Given the description of an element on the screen output the (x, y) to click on. 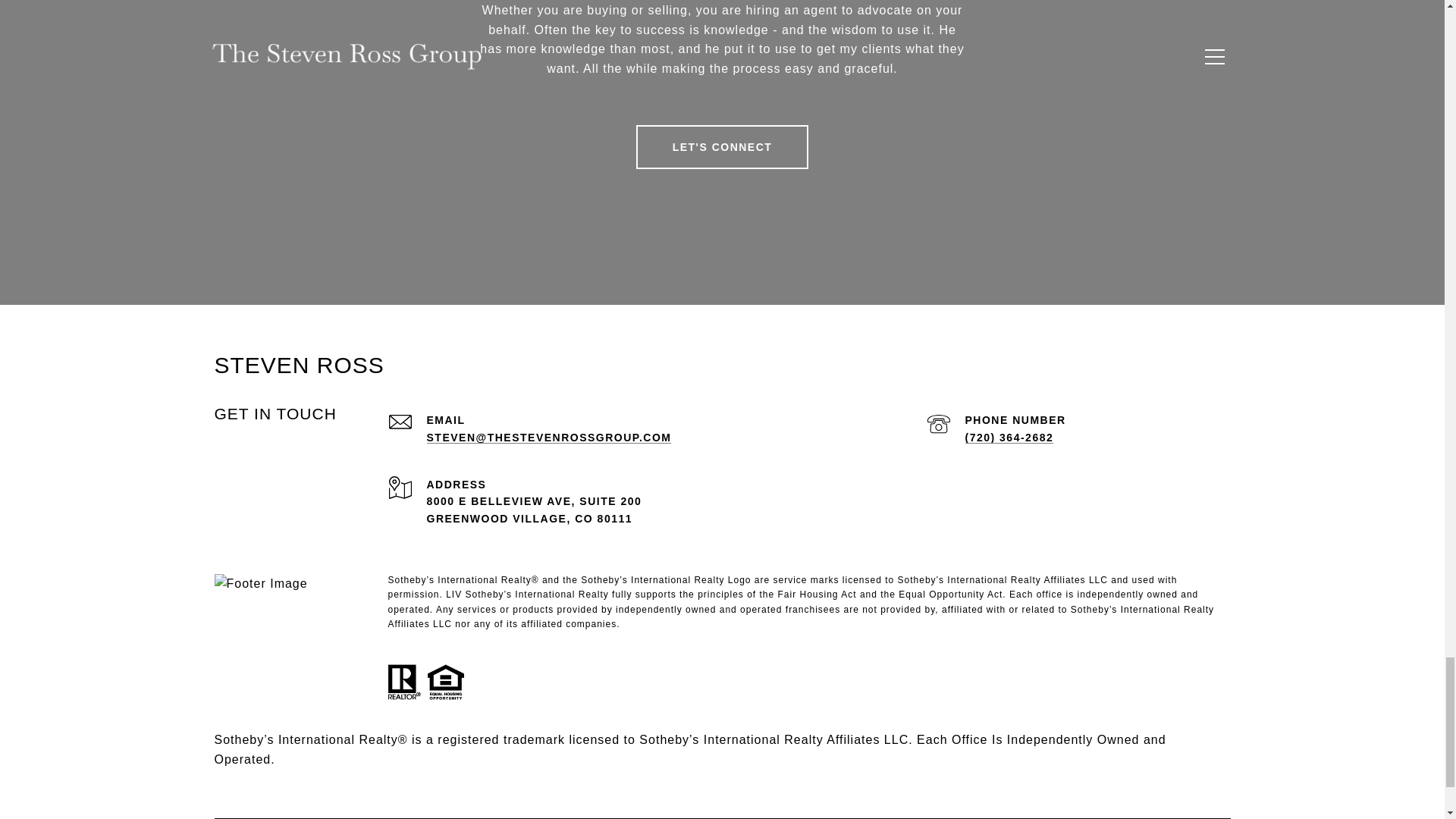
LET'S CONNECT (722, 146)
